Given the description of an element on the screen output the (x, y) to click on. 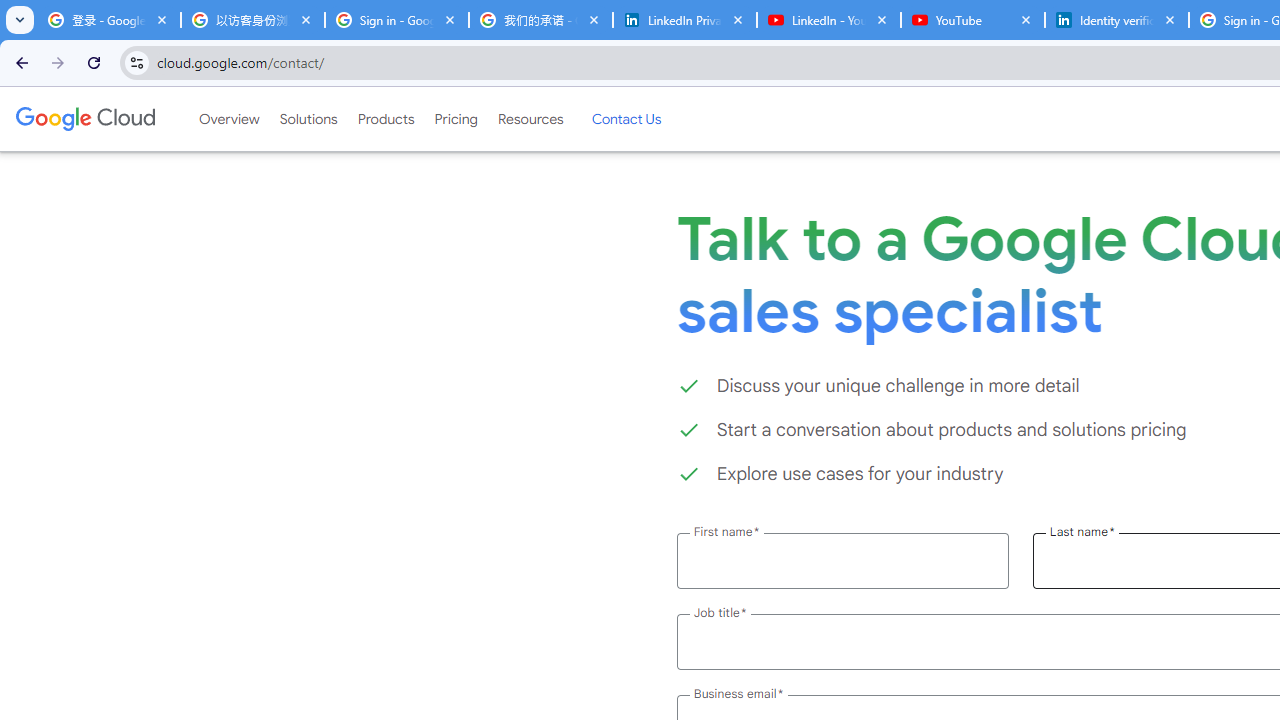
Pricing (455, 119)
Contact Us (626, 119)
First name * (842, 560)
Solutions (308, 119)
Products (385, 119)
YouTube (972, 20)
LinkedIn - YouTube (828, 20)
